Given the description of an element on the screen output the (x, y) to click on. 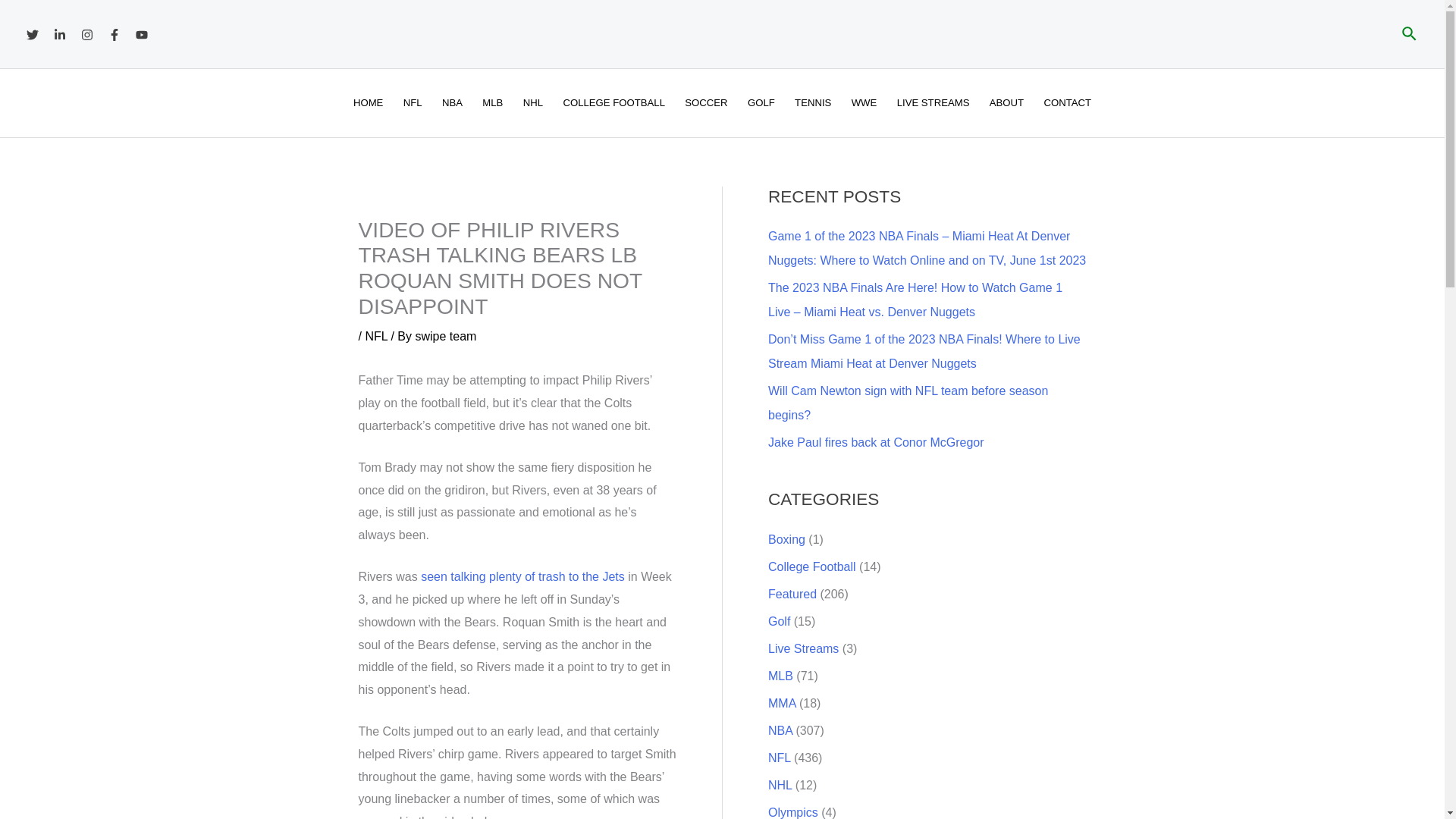
swipe team (445, 336)
HOME (368, 102)
seen talking plenty of trash to the Jets (522, 576)
LIVE STREAMS (932, 102)
ABOUT (1006, 102)
TENNIS (812, 102)
COLLEGE FOOTBALL (614, 102)
NFL (376, 336)
CONTACT (1066, 102)
SOCCER (706, 102)
